Given the description of an element on the screen output the (x, y) to click on. 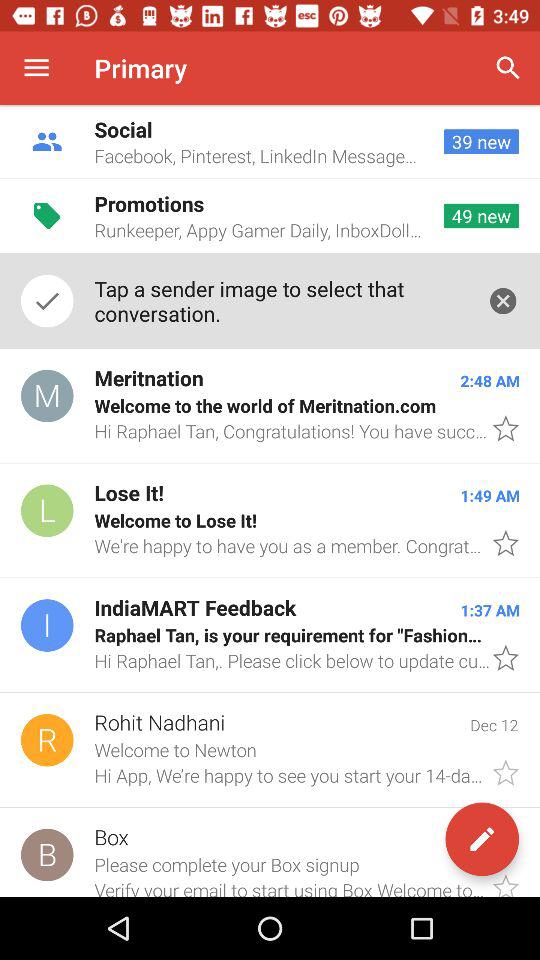
tap icon next to the tap a sender (503, 300)
